Given the description of an element on the screen output the (x, y) to click on. 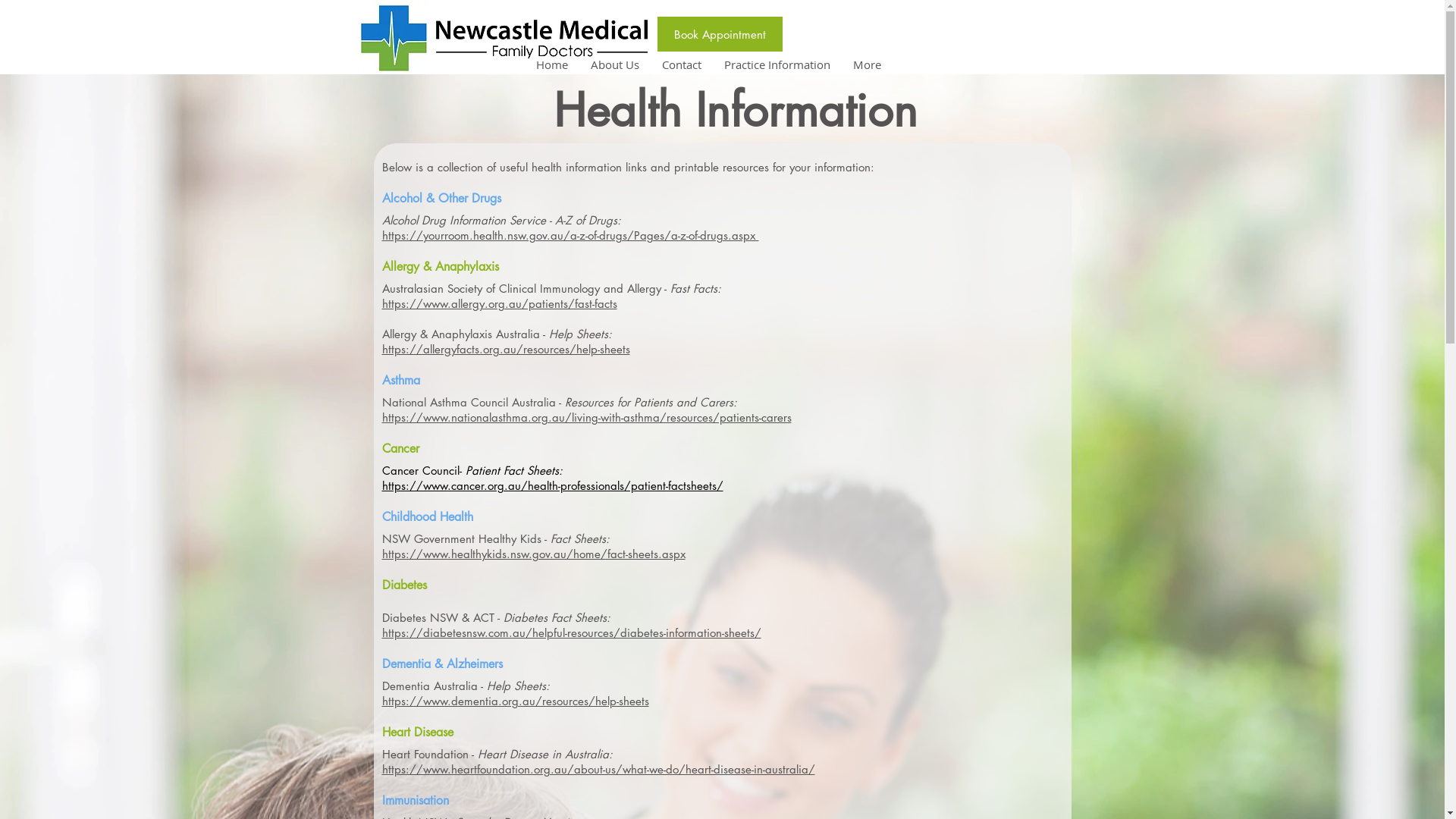
https://www.allergy.org.au/patients/fast-facts Element type: text (499, 302)
https://www.healthykids.nsw.gov.au/home/fact-sheets.aspx Element type: text (533, 553)
NM_Full Colour_Logo_Sept15.jpg Element type: hover (540, 37)
Book Appointment Element type: text (718, 33)
About Us Element type: text (614, 64)
Practice Information Element type: text (776, 64)
https://www.dementia.org.au/resources/help-sheets Element type: text (515, 700)
Home Element type: text (551, 64)
Contact Element type: text (681, 64)
https://allergyfacts.org.au/resources/help-sheets Element type: text (506, 348)
